Given the description of an element on the screen output the (x, y) to click on. 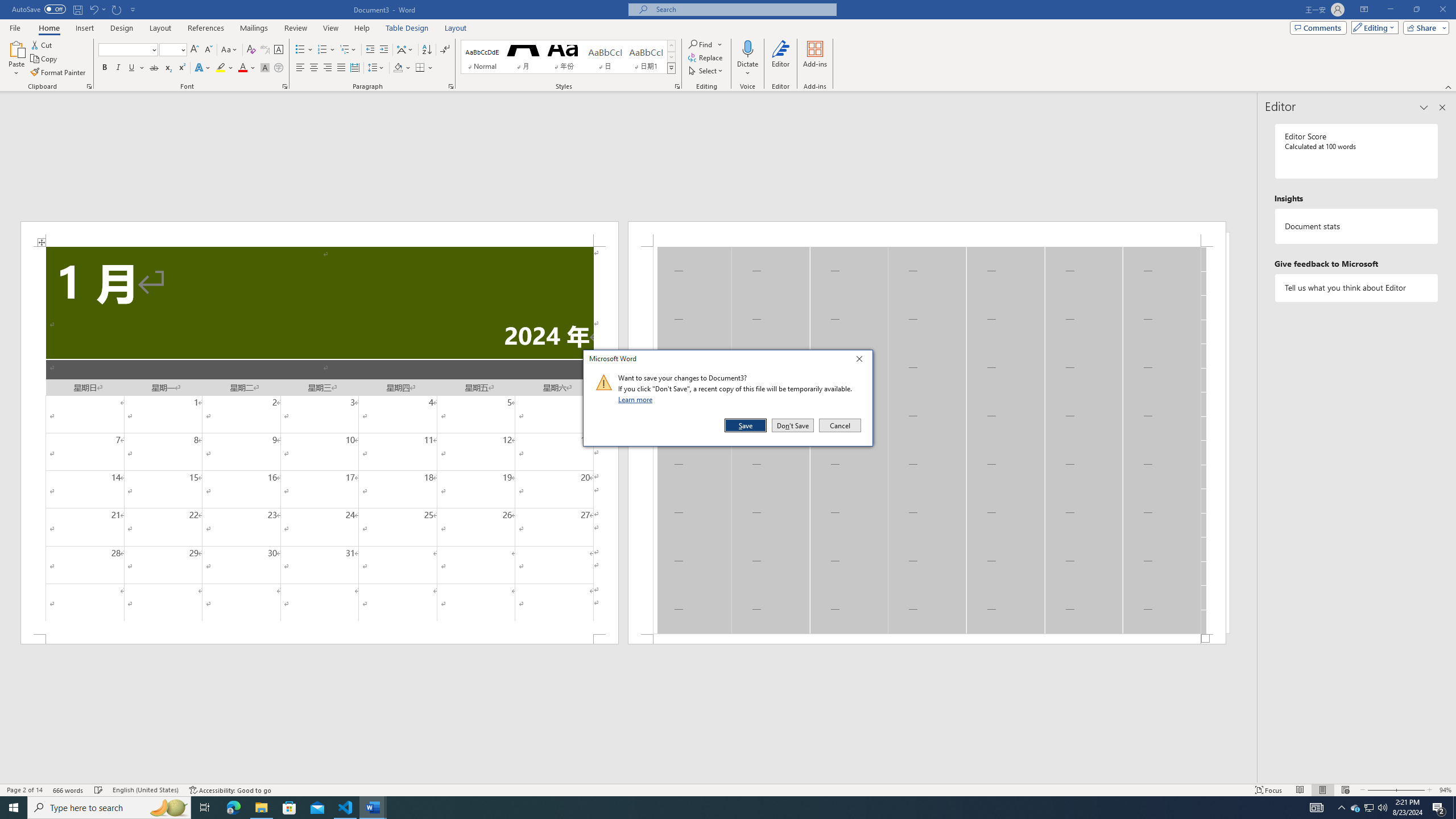
Running applications (717, 807)
